Given the description of an element on the screen output the (x, y) to click on. 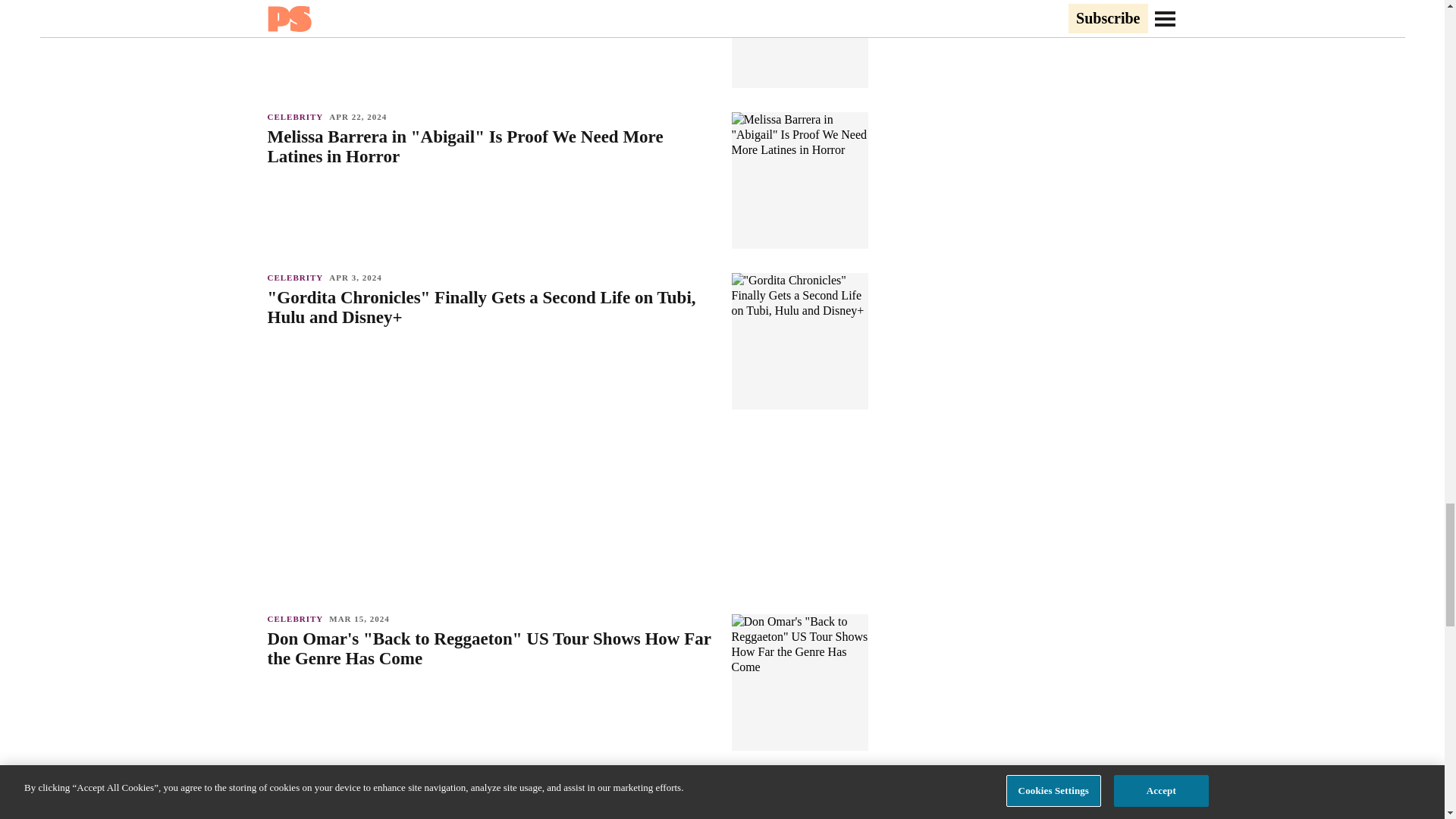
CELEBRITY (297, 116)
CELEBRITY (297, 276)
